Given the description of an element on the screen output the (x, y) to click on. 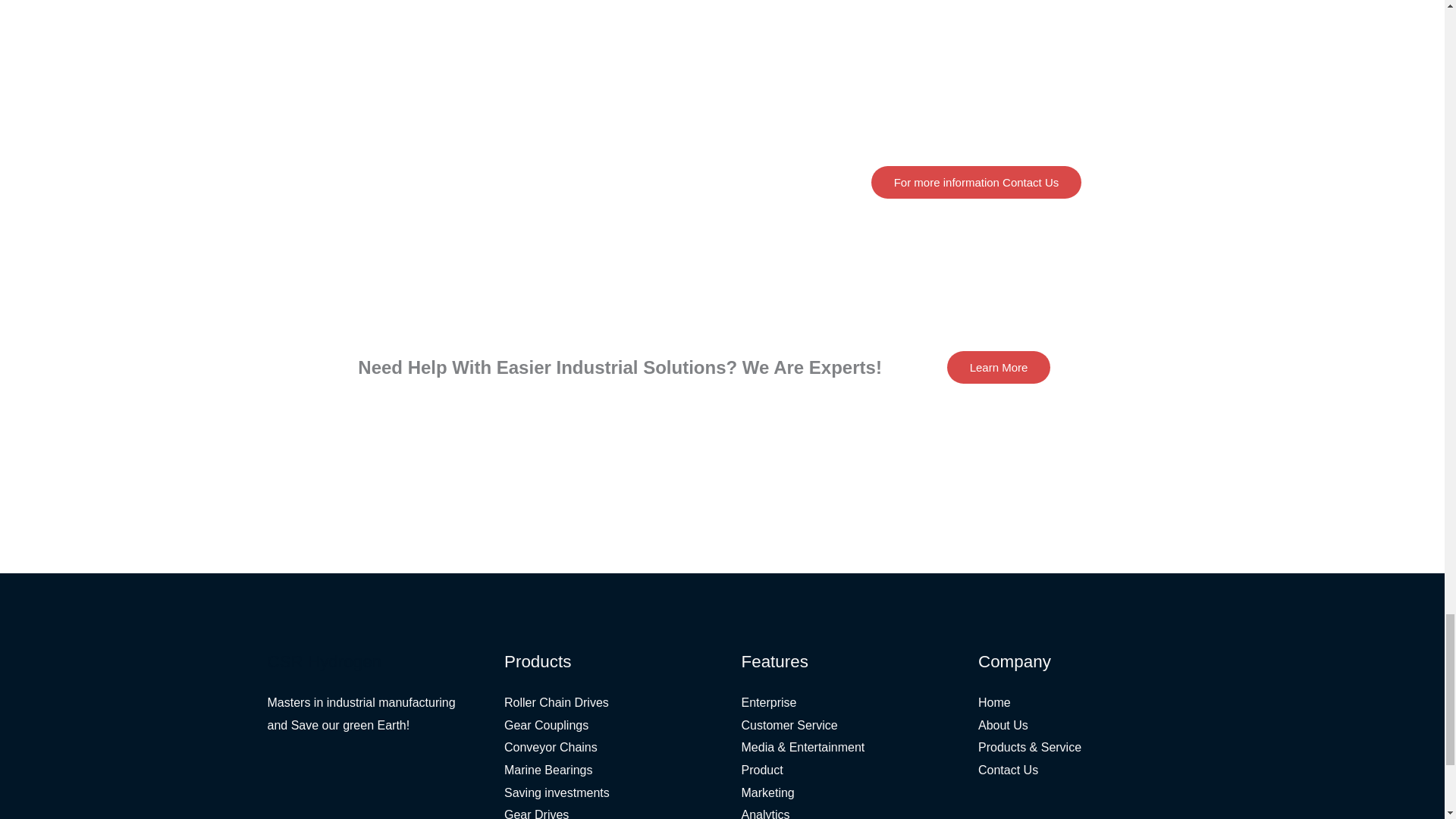
Conveyor Chains (549, 747)
Home (994, 702)
About Us (1002, 725)
Analytics (765, 813)
Product (762, 769)
Gear Drives (536, 813)
Customer Service (789, 725)
Marine Bearings (547, 769)
Contact Us (1008, 769)
Learn More (999, 367)
